Given the description of an element on the screen output the (x, y) to click on. 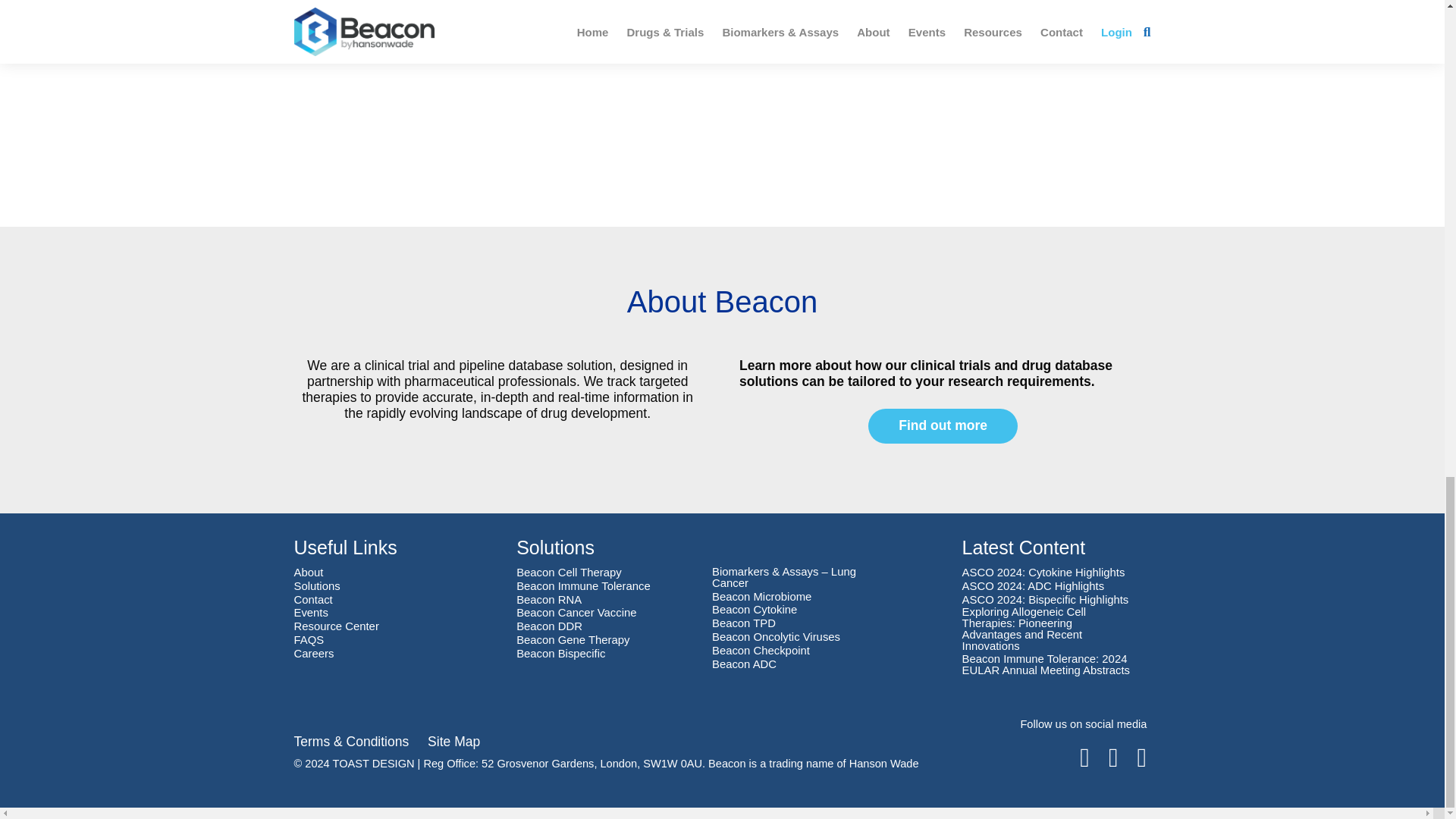
Resource Center (336, 626)
Beacon Cell Therapy (568, 572)
Find out more (942, 425)
About (308, 572)
Contact (313, 599)
Beacon RNA (548, 599)
Beacon Immune Tolerance (583, 586)
FAQS (309, 640)
Events (311, 613)
Solutions (317, 586)
Careers (314, 654)
